Given the description of an element on the screen output the (x, y) to click on. 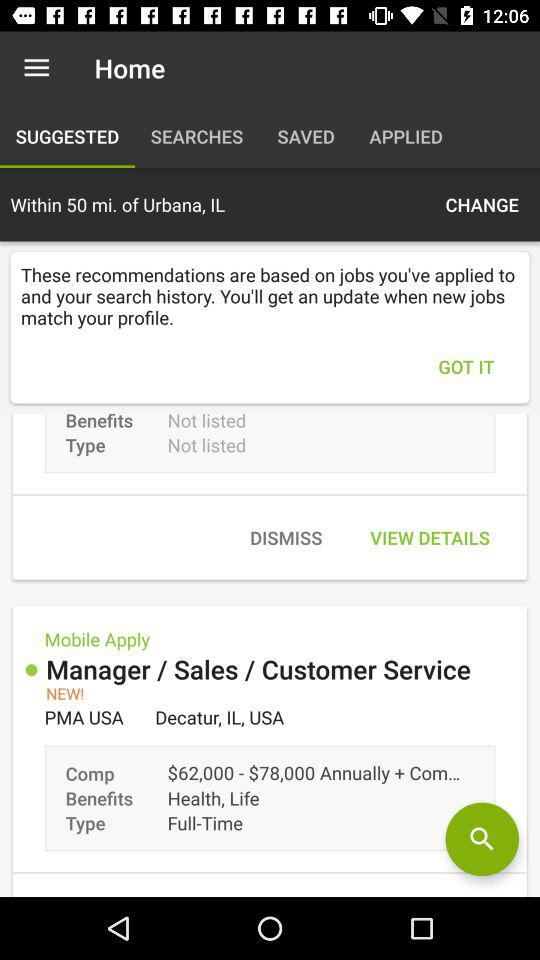
turn off the icon above the apply now item (482, 839)
